Given the description of an element on the screen output the (x, y) to click on. 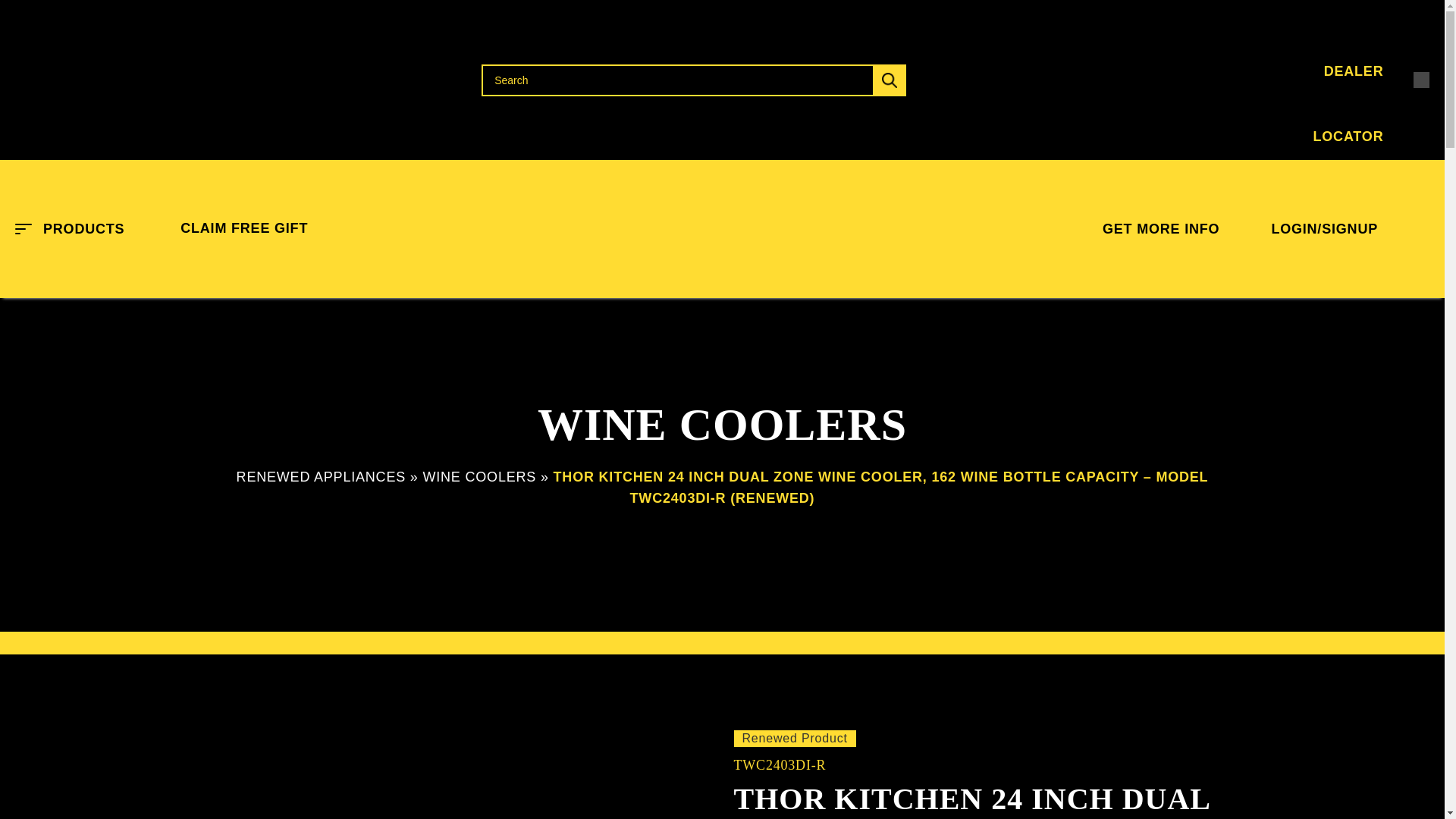
Submit (888, 79)
Search (693, 79)
DEALER LOCATOR (1229, 79)
